Given the description of an element on the screen output the (x, y) to click on. 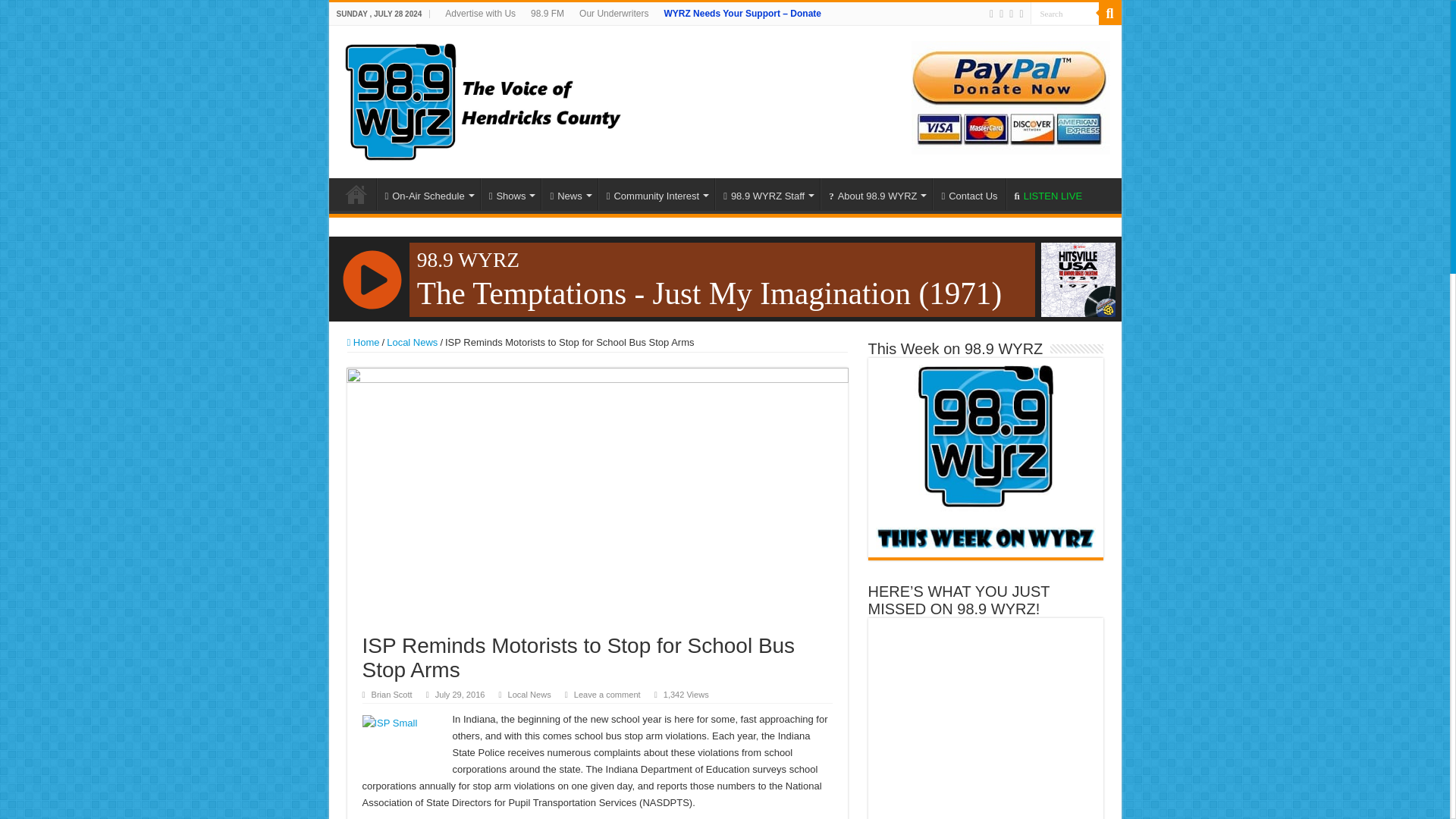
Search (1063, 13)
Search (1063, 13)
Search (1063, 13)
WYRZ.org (481, 99)
